Given the description of an element on the screen output the (x, y) to click on. 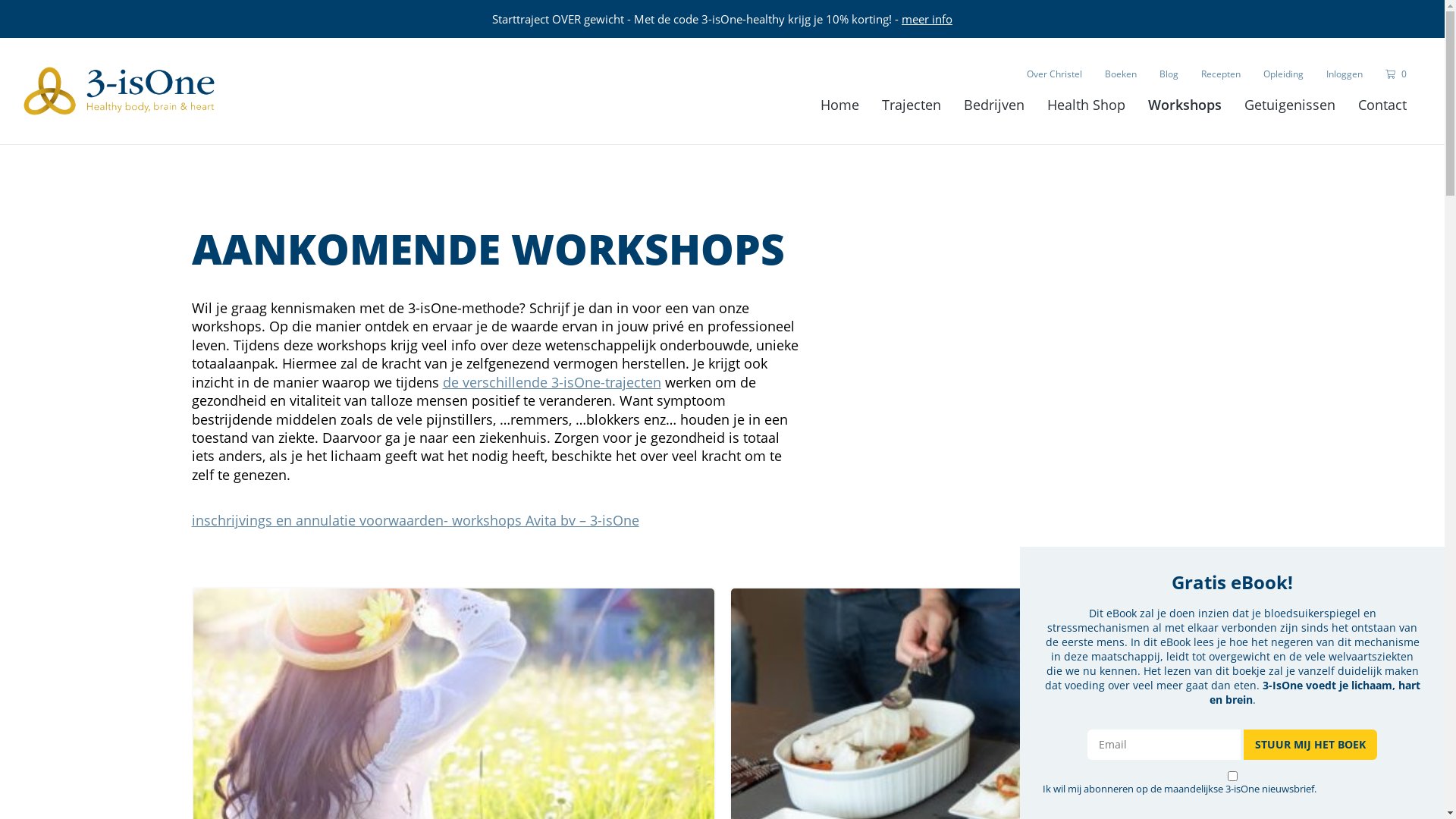
Contact Element type: text (1382, 104)
Over Christel Element type: text (1054, 74)
Trajecten Element type: text (911, 104)
Home Element type: text (839, 104)
Recepten Element type: text (1220, 74)
Inloggen Element type: text (1344, 74)
0 Element type: text (1395, 74)
Opleiding Element type: text (1283, 74)
Bedrijven Element type: text (993, 104)
Boeken Element type: text (1120, 74)
Blog Element type: text (1168, 74)
Workshops Element type: text (1184, 104)
Health Shop Element type: text (1086, 104)
Getuigenissen Element type: text (1289, 104)
de verschillende 3-isOne-trajecten Element type: text (551, 382)
